Given the description of an element on the screen output the (x, y) to click on. 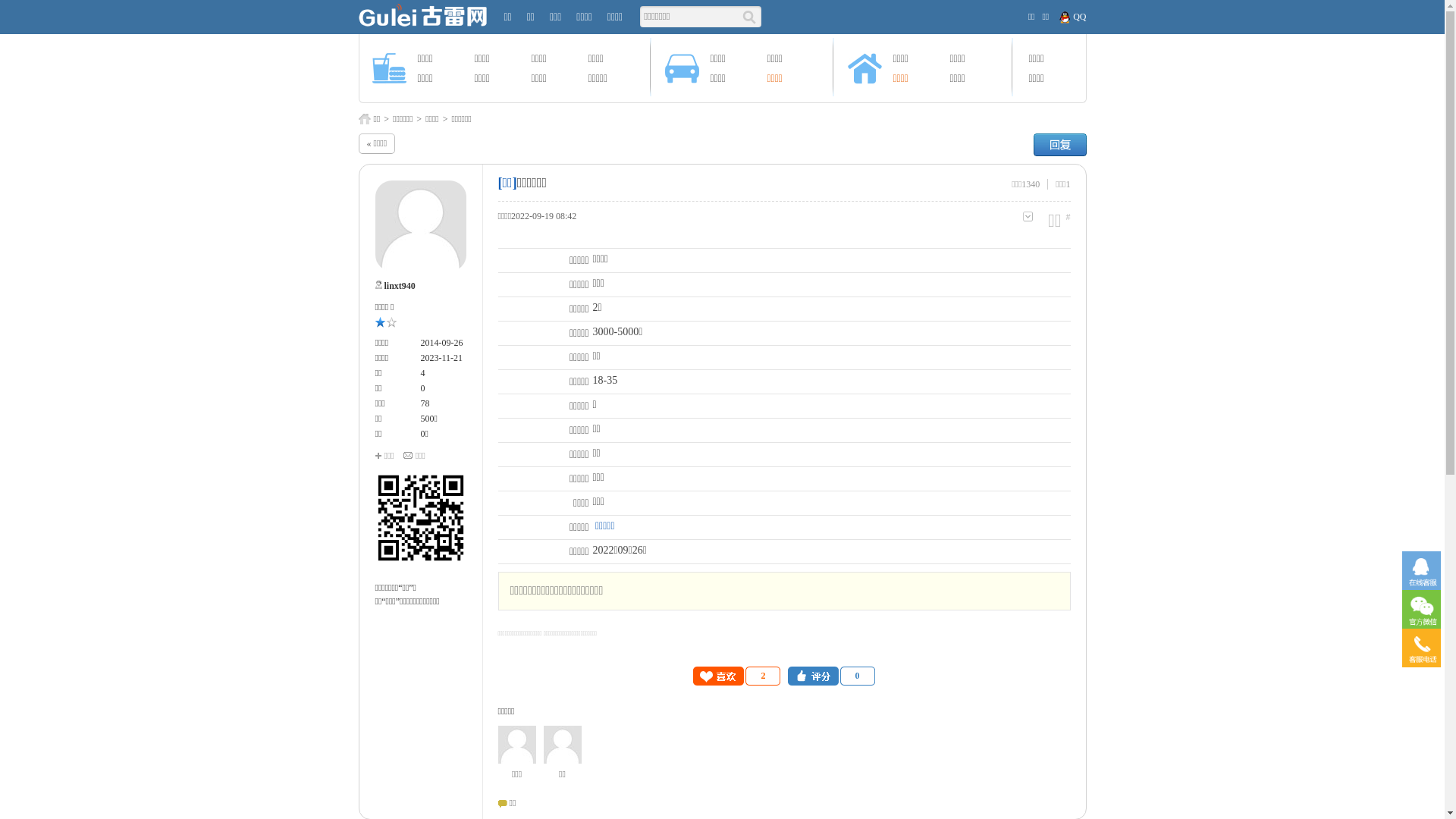
0 Element type: text (831, 675)
linxt940 Element type: text (398, 285)
4 Element type: text (422, 372)
0 Element type: text (422, 387)
QQ Element type: text (1071, 16)
78 Element type: text (424, 403)
2 Element type: text (737, 675)
